Given the description of an element on the screen output the (x, y) to click on. 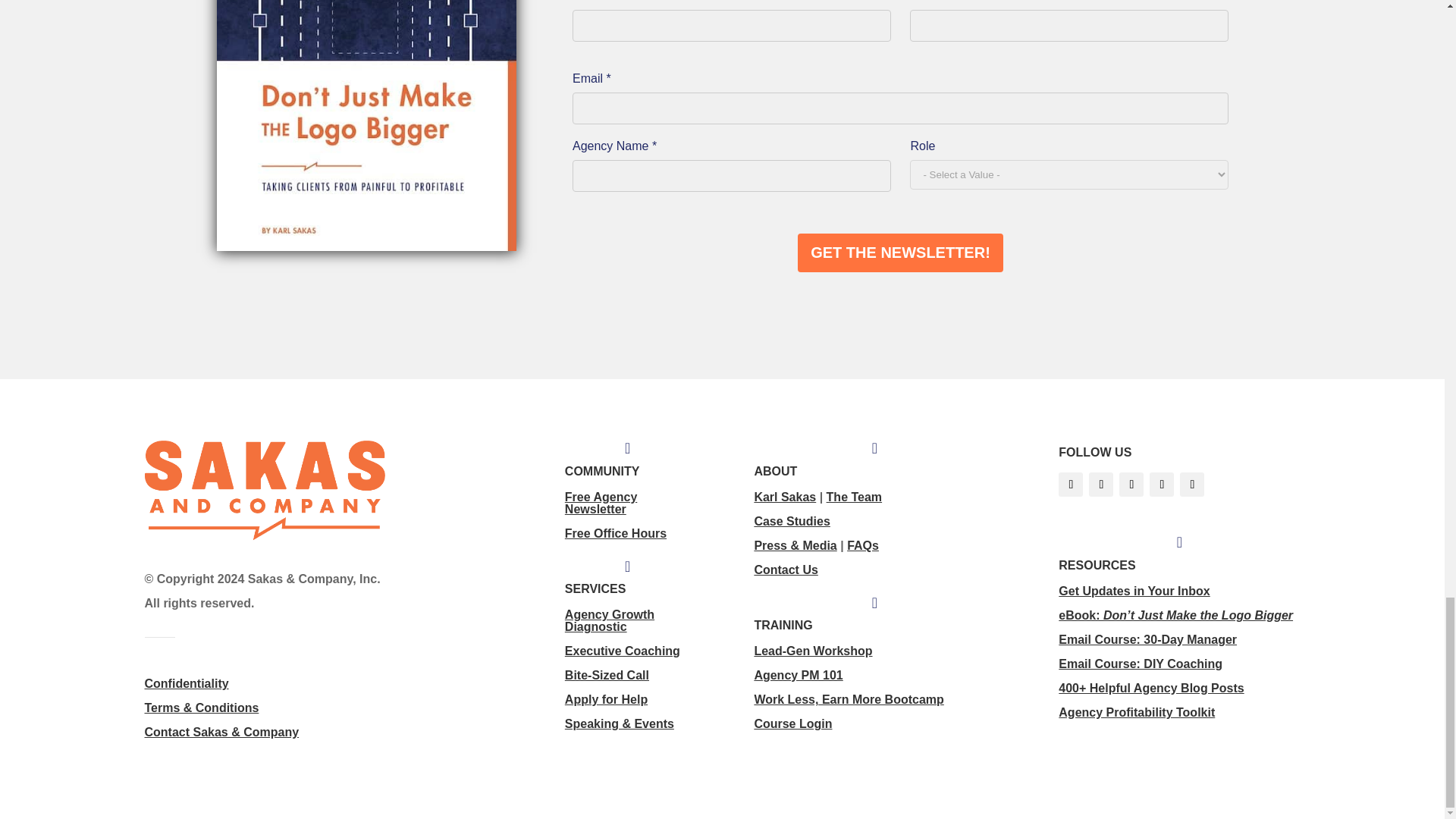
Free Office Hours (615, 533)
Follow on Instagram (1161, 484)
Follow on X (1101, 484)
Free Agency Newsletter (600, 502)
Follow on Youtube (1191, 484)
Executive Coaching (621, 650)
sakas-and-company-logo-orange-600px (264, 490)
Agency Growth Diagnostic (608, 620)
Follow on Facebook (1070, 484)
djmtlb-client-relationships-ebook-cover-karl-sakas-1 (366, 125)
Follow on LinkedIn (1130, 484)
Confidentiality (186, 683)
